Given the description of an element on the screen output the (x, y) to click on. 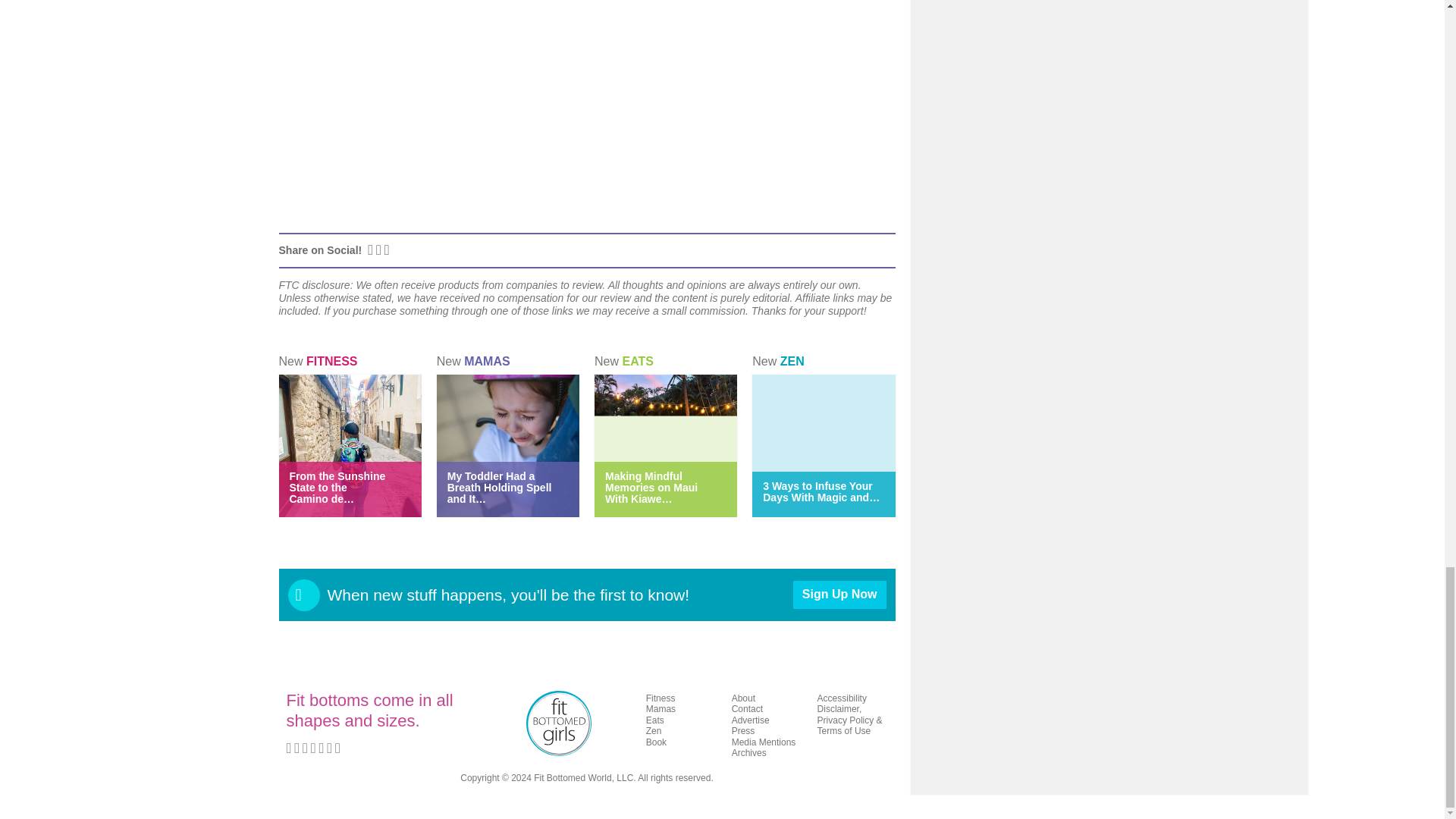
3 Ways to Infuse Your Days With Magic and Meaning (820, 491)
From the Sunshine State to the Camino de Santiago (337, 487)
My Toddler Had a Breath Holding Spell and It Was Scary AF (498, 487)
Making Mindful Memories on Maui With Kiawe Outdoor (651, 487)
